Given the description of an element on the screen output the (x, y) to click on. 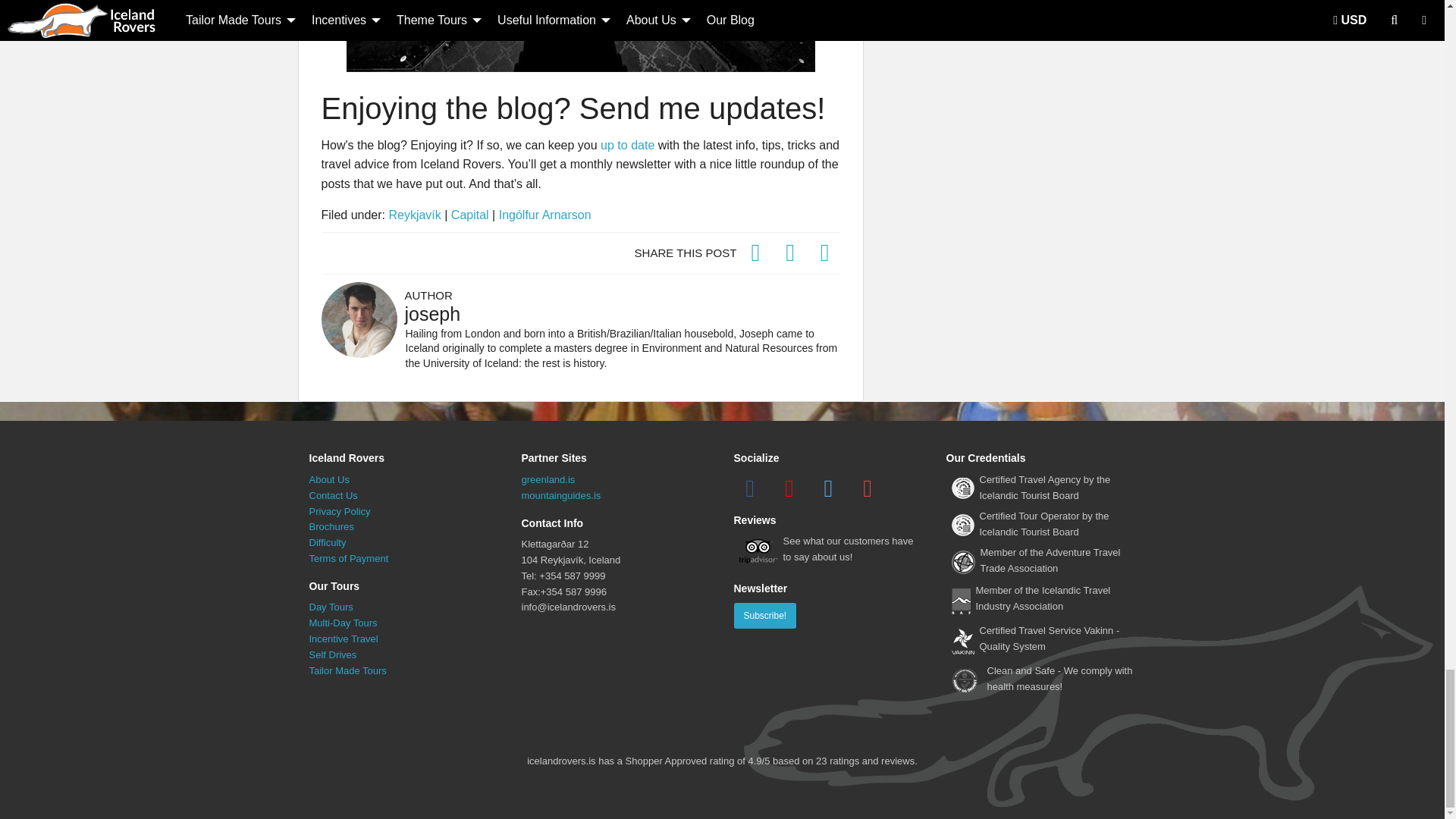
Find us on Instagram! (828, 488)
Find us on Youtube! (789, 488)
Check out our reviews on Trip Advisor (828, 552)
Check out our reviews on Trip Advisor (757, 550)
Find us on Facebook! (750, 488)
